Given the description of an element on the screen output the (x, y) to click on. 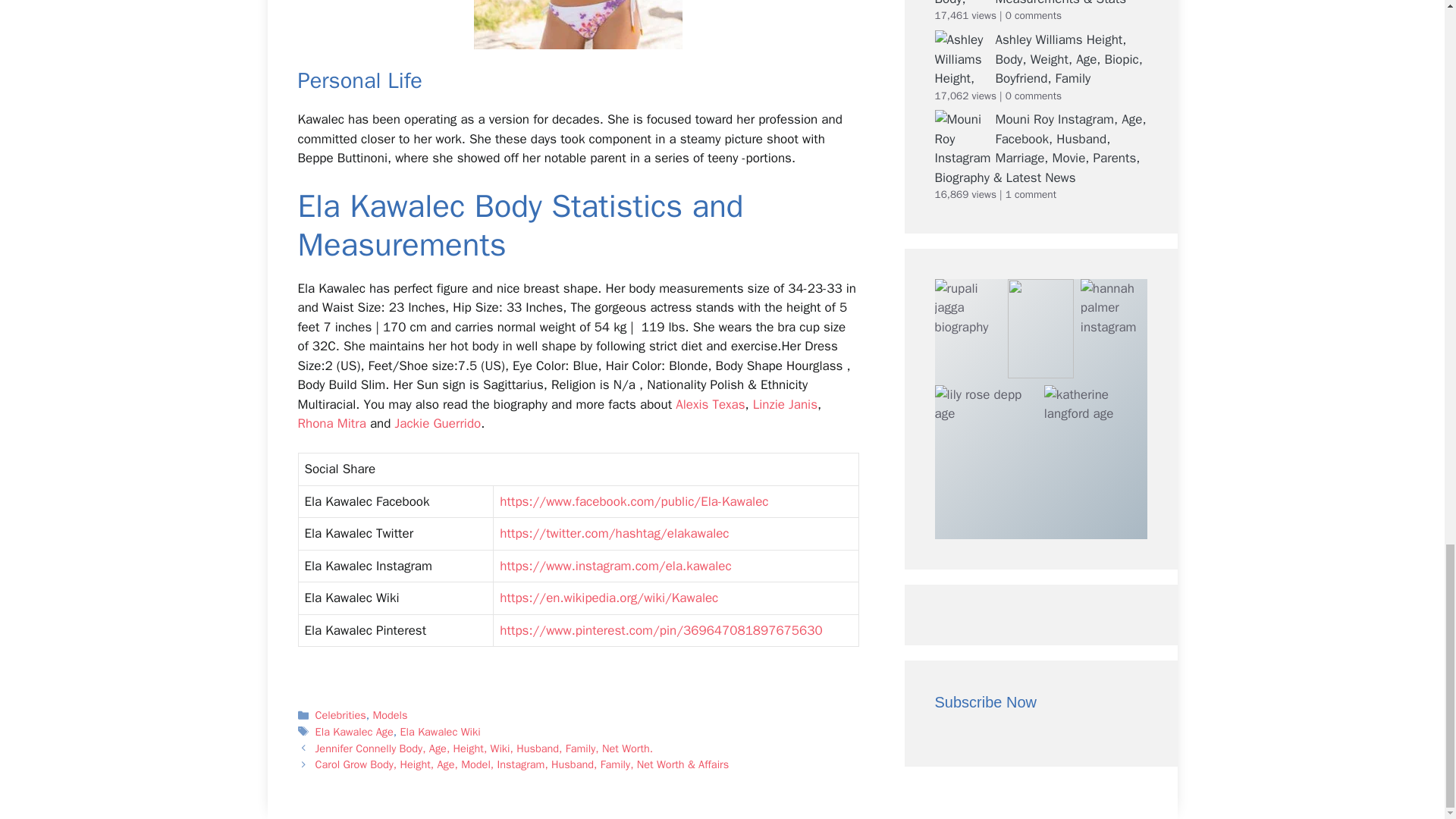
Alexis Texas (709, 404)
Models (389, 714)
Ela Kawalec Age (354, 731)
Linzie Janis (784, 404)
Ela Kawalec Wiki (440, 731)
Jackie Guerrido (437, 423)
Rhona Mitra (331, 423)
Celebrities (340, 714)
